Given the description of an element on the screen output the (x, y) to click on. 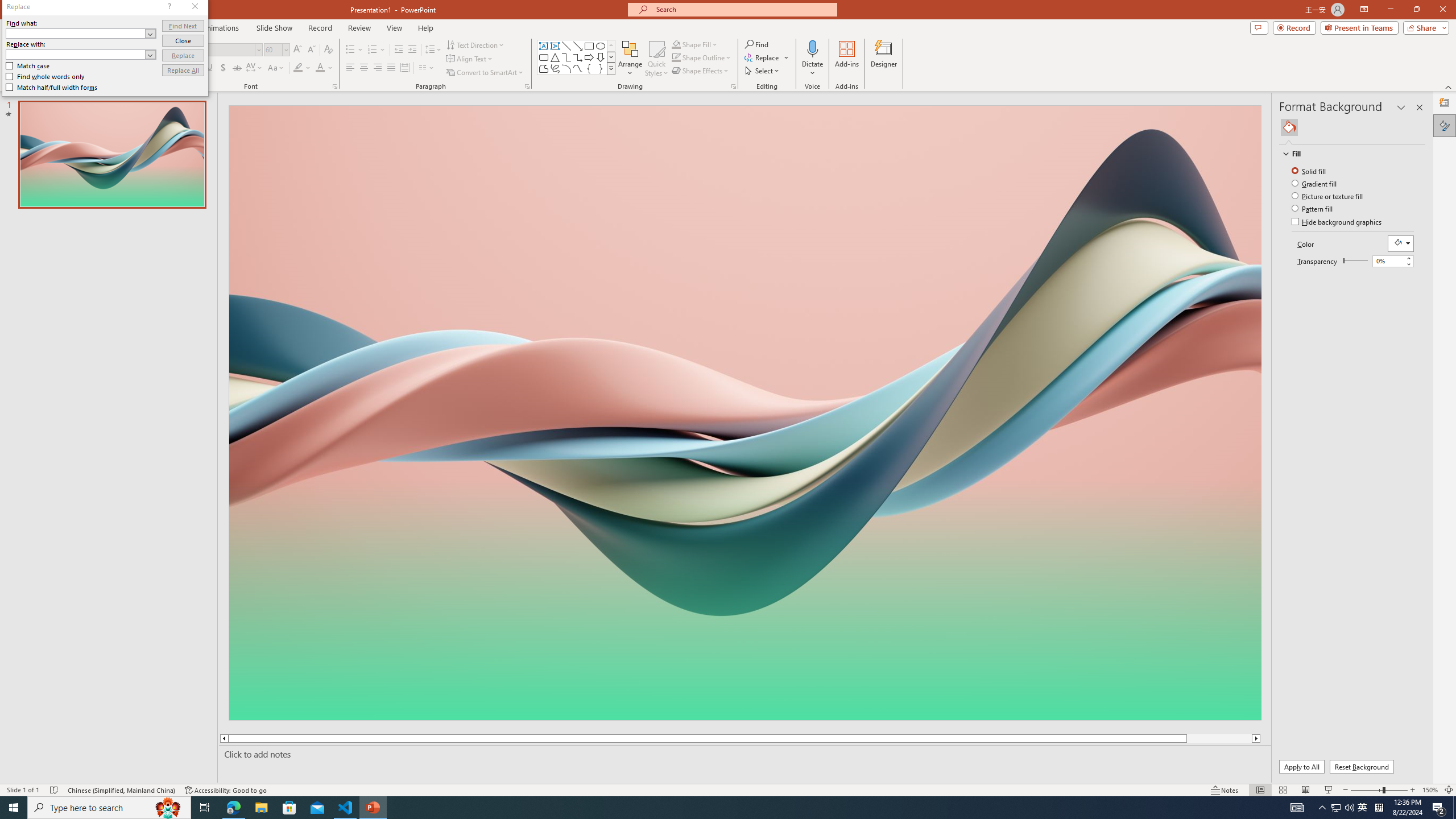
Class: NetUIScrollBar (1420, 451)
Zoom 150% (1430, 790)
